Given the description of an element on the screen output the (x, y) to click on. 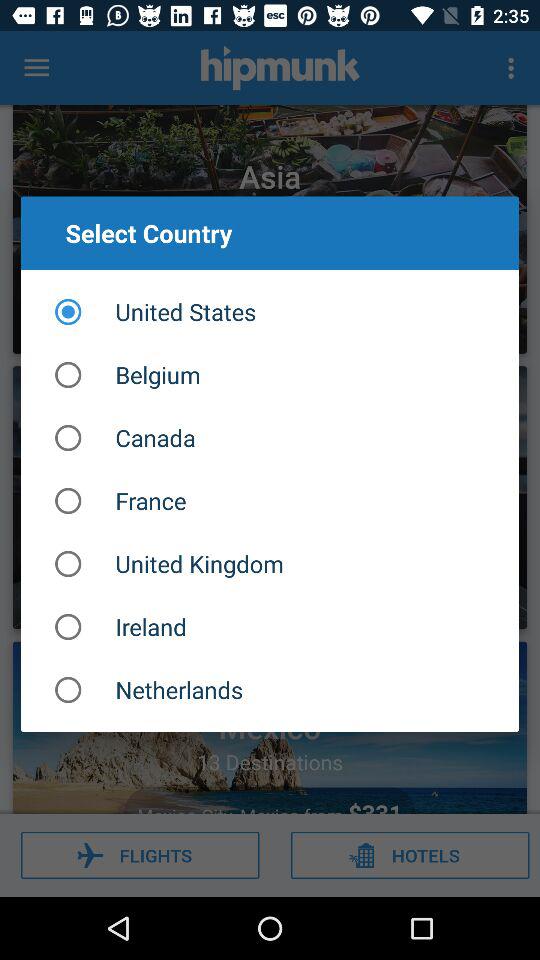
select france item (270, 500)
